Given the description of an element on the screen output the (x, y) to click on. 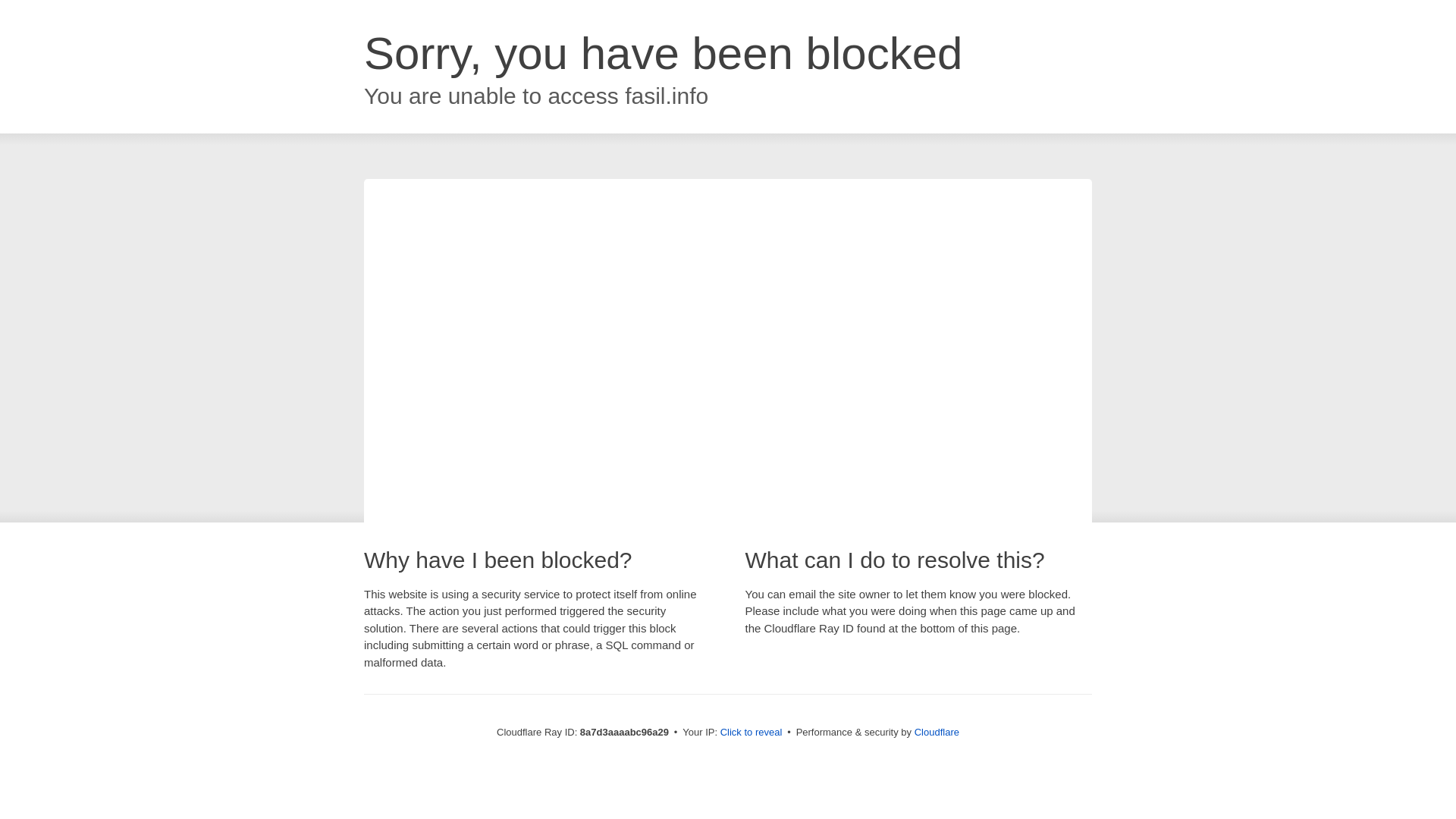
Cloudflare (936, 731)
Click to reveal (751, 732)
